Given the description of an element on the screen output the (x, y) to click on. 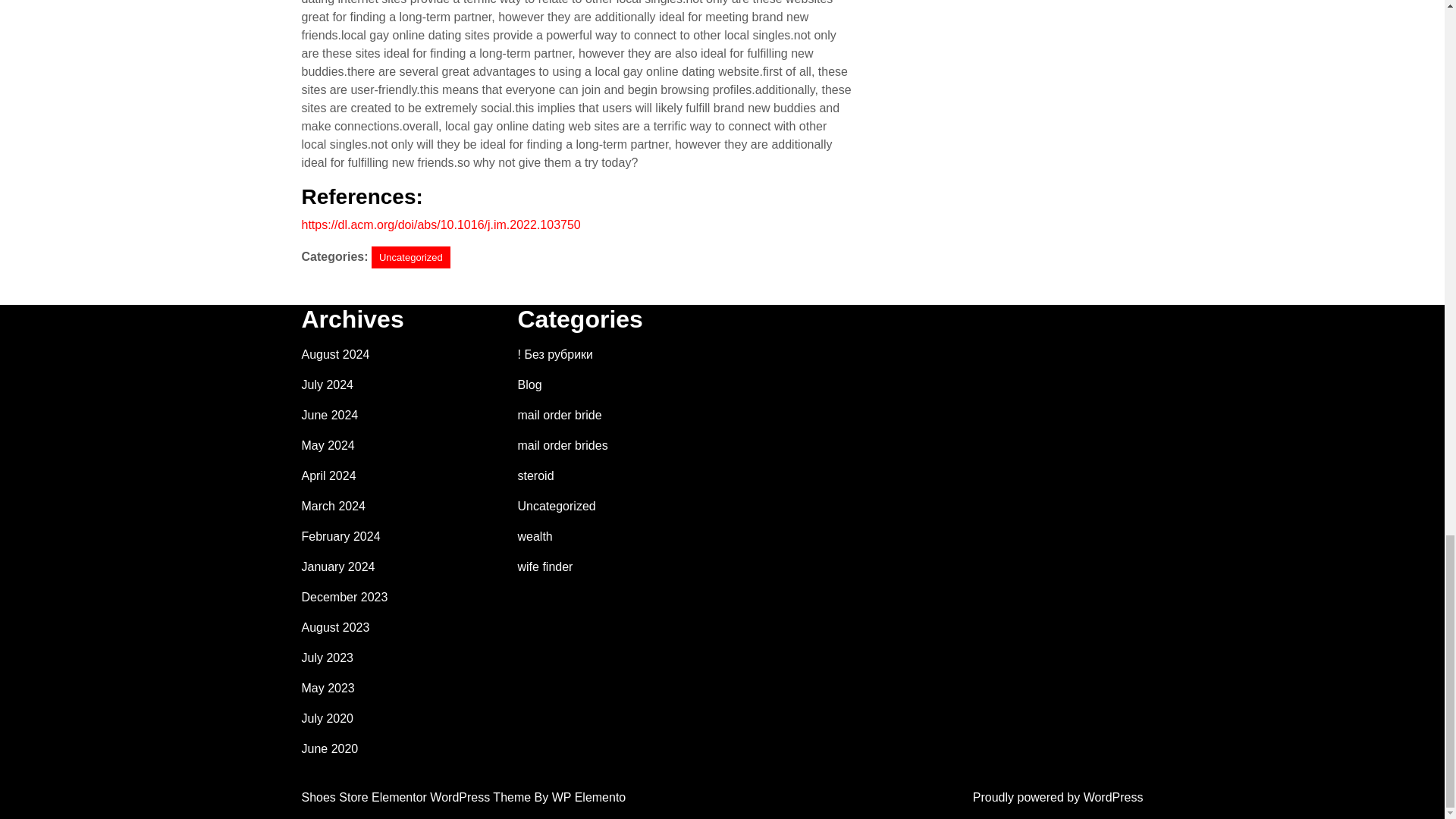
June 2020 (329, 748)
July 2023 (327, 657)
August 2024 (335, 354)
May 2023 (328, 687)
Uncategorized (410, 257)
Uncategorized (555, 505)
January 2024 (338, 566)
February 2024 (340, 535)
steroid (534, 475)
May 2024 (328, 445)
